Given the description of an element on the screen output the (x, y) to click on. 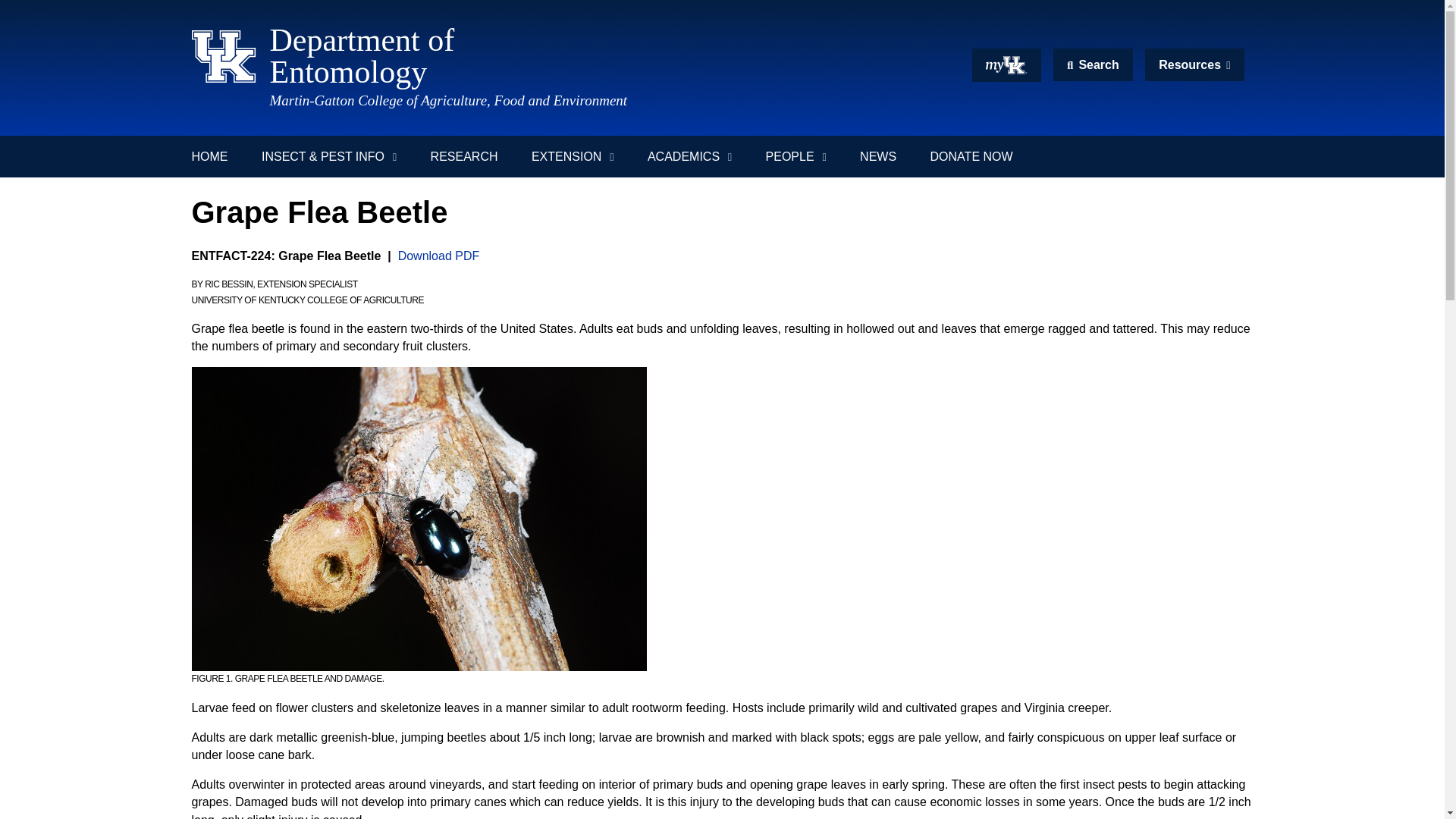
Martin-Gatton College of Agriculture, Food and Environment (448, 100)
Skip to main content (721, 6)
RESEARCH (463, 156)
HOME (216, 156)
ACADEMICS (688, 156)
NEWS (560, 55)
PEOPLE (877, 156)
EXTENSION (796, 156)
Resources (572, 156)
